Given the description of an element on the screen output the (x, y) to click on. 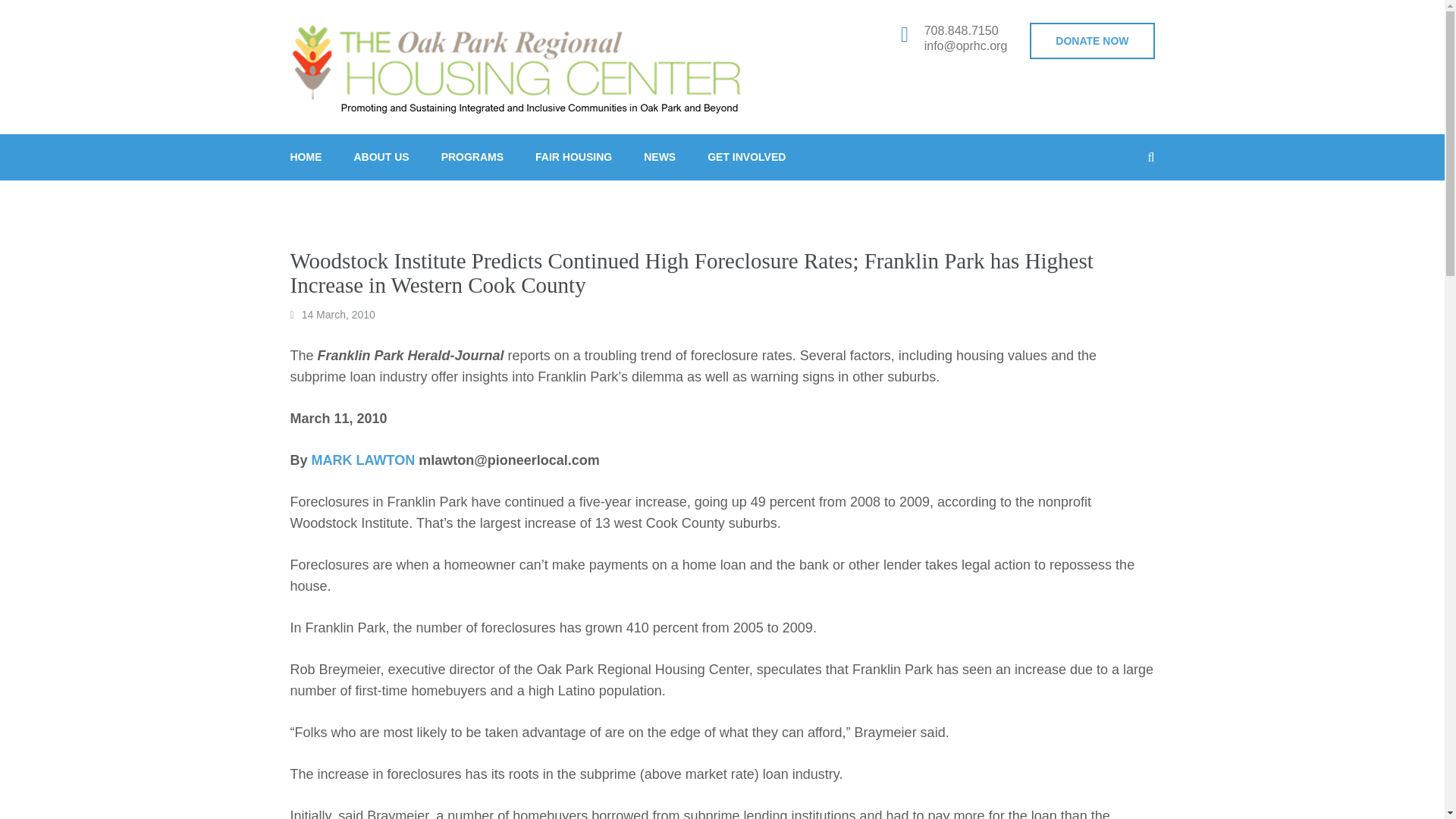
ABOUT US (381, 157)
FAIR HOUSING (573, 157)
GET INVOLVED (746, 157)
MARK LAWTON (362, 459)
DONATE NOW (1091, 40)
PROGRAMS (472, 157)
14 March, 2010 (338, 314)
708.848.7150 (965, 30)
